Given the description of an element on the screen output the (x, y) to click on. 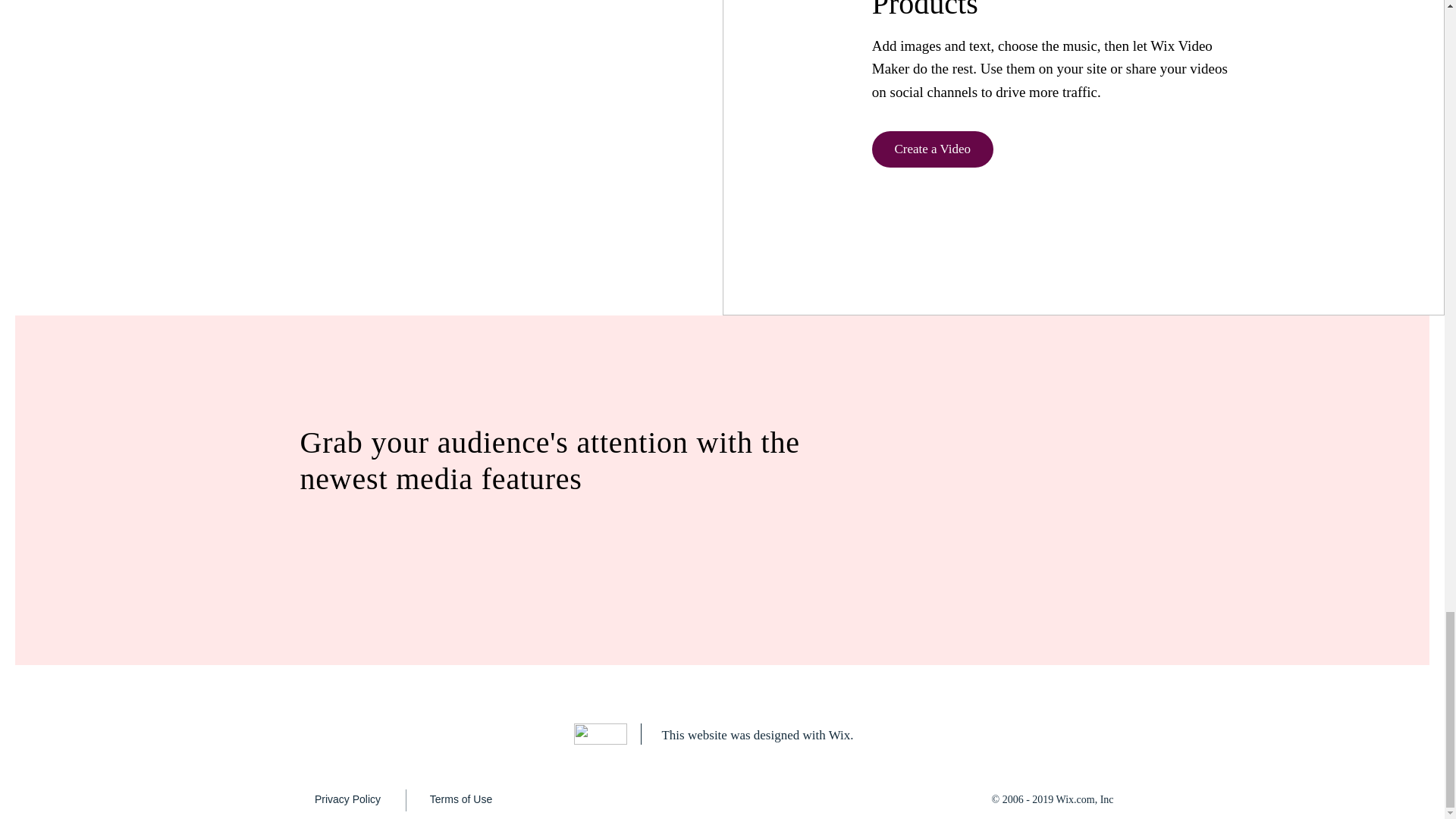
Privacy Policy (347, 799)
Terms of Use (460, 799)
Create a Video (932, 149)
